Given the description of an element on the screen output the (x, y) to click on. 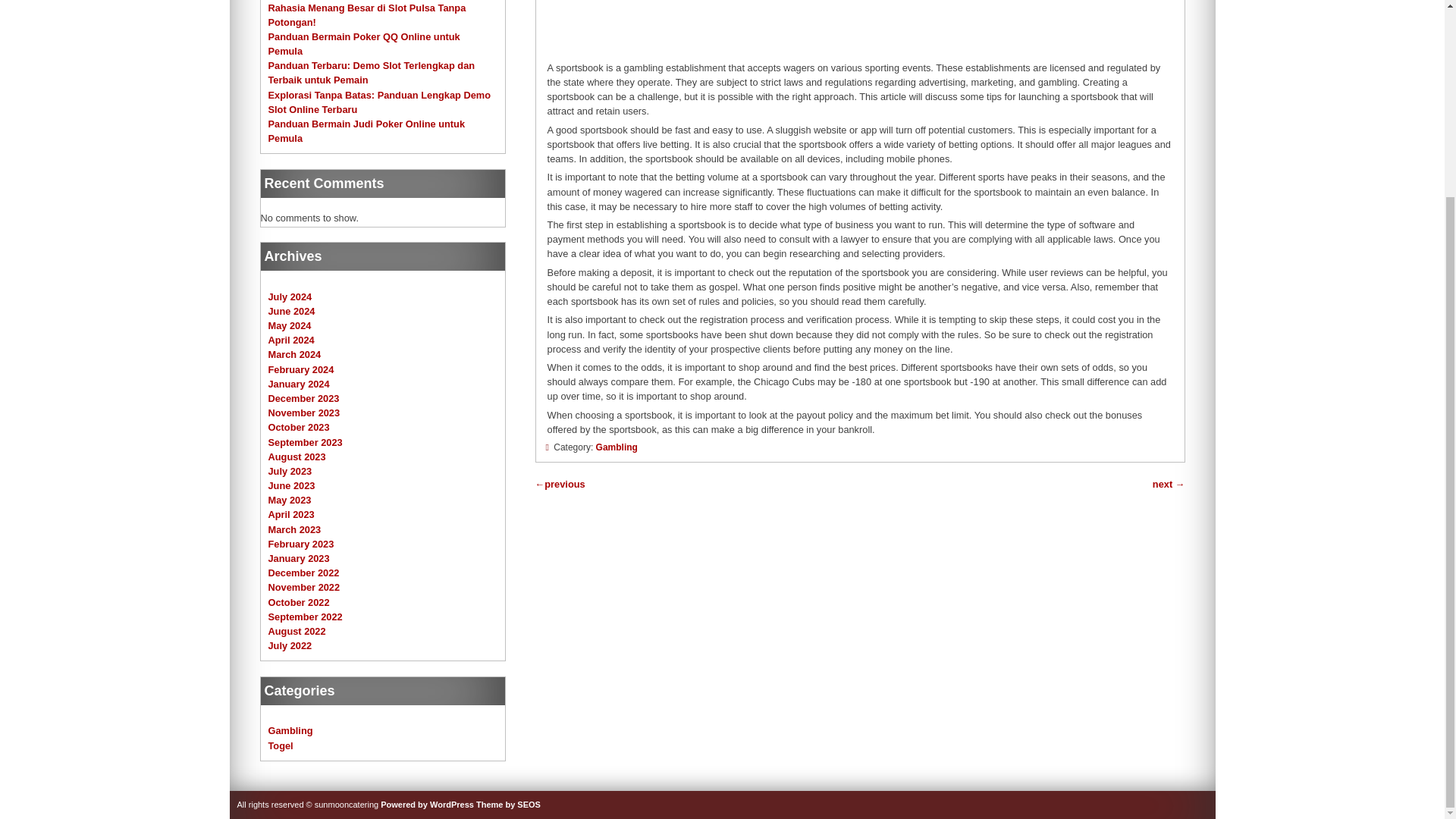
Panduan Bermain Poker QQ Online untuk Pemula (363, 43)
January 2023 (298, 558)
February 2024 (300, 369)
February 2023 (300, 543)
July 2024 (290, 296)
October 2022 (298, 602)
April 2023 (290, 514)
August 2022 (296, 631)
Panduan Bermain Judi Poker Online untuk Pemula (366, 130)
December 2022 (303, 572)
June 2024 (291, 310)
Rahasia Menang Besar di Slot Pulsa Tanpa Potongan! (366, 14)
January 2024 (298, 383)
